Given the description of an element on the screen output the (x, y) to click on. 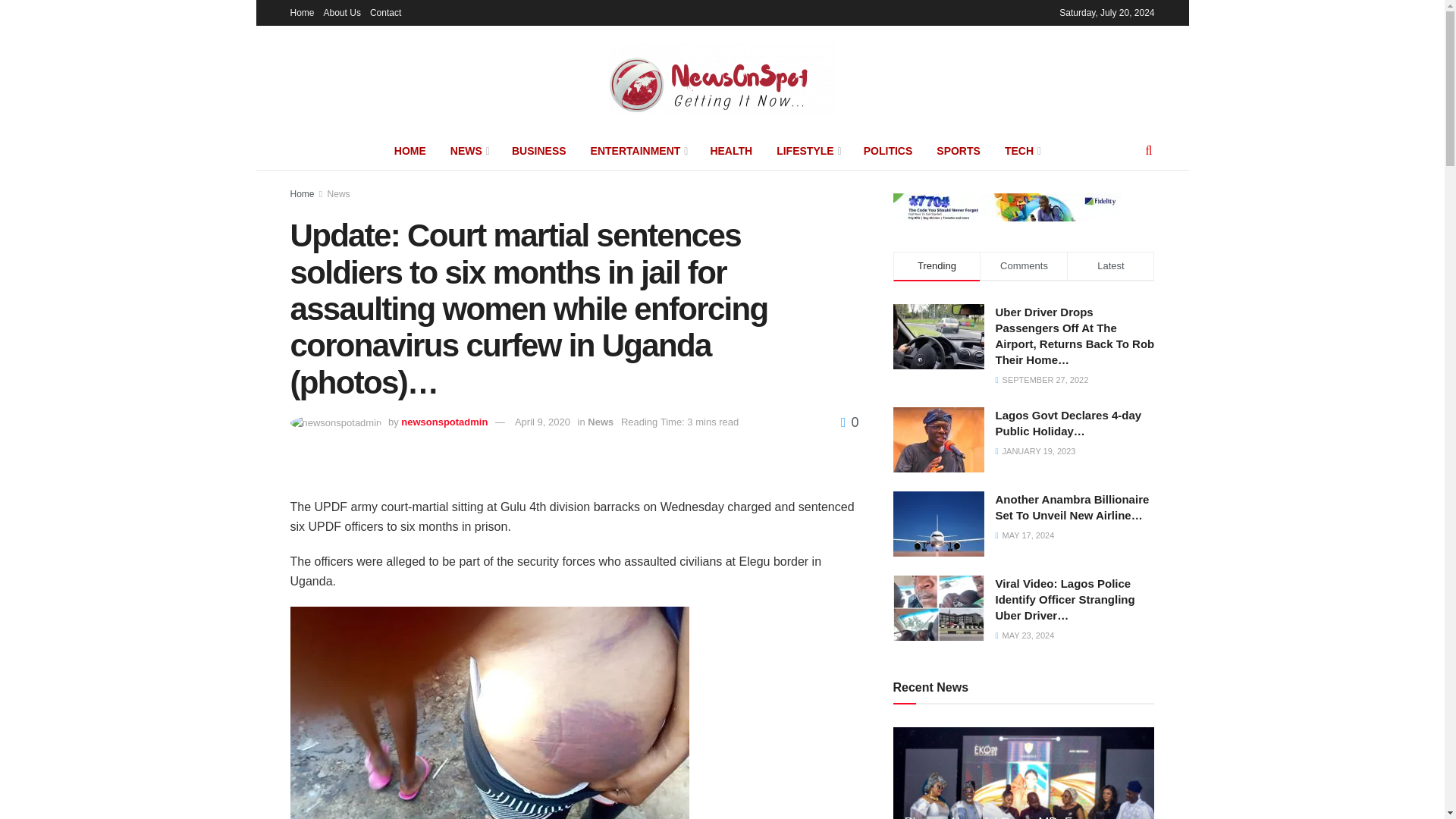
NEWS (468, 150)
Contact (385, 12)
About Us (342, 12)
ENTERTAINMENT (638, 150)
Home (301, 12)
HOME (409, 150)
BUSINESS (538, 150)
